Given the description of an element on the screen output the (x, y) to click on. 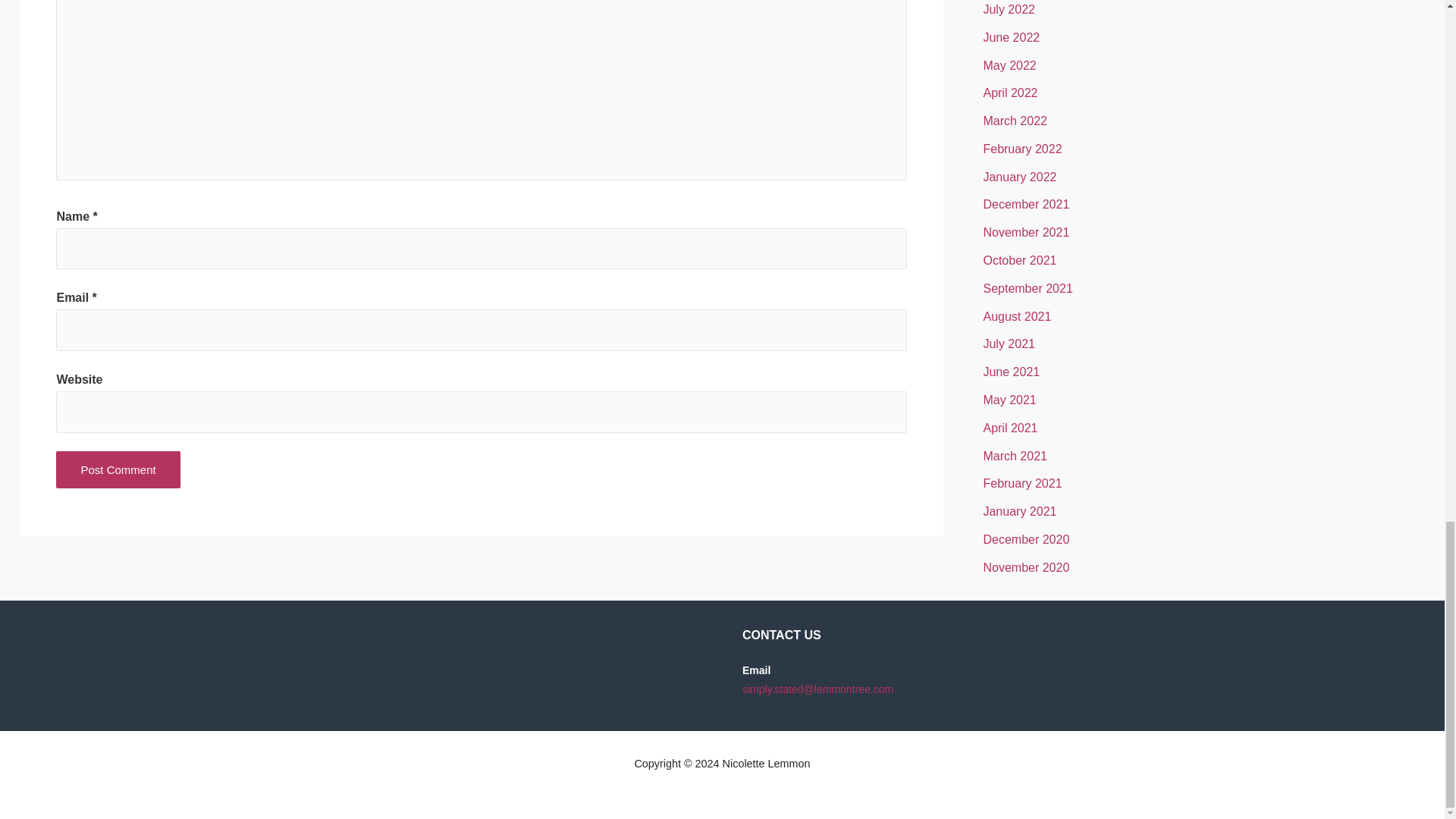
Post Comment (117, 469)
Post Comment (117, 469)
